Given the description of an element on the screen output the (x, y) to click on. 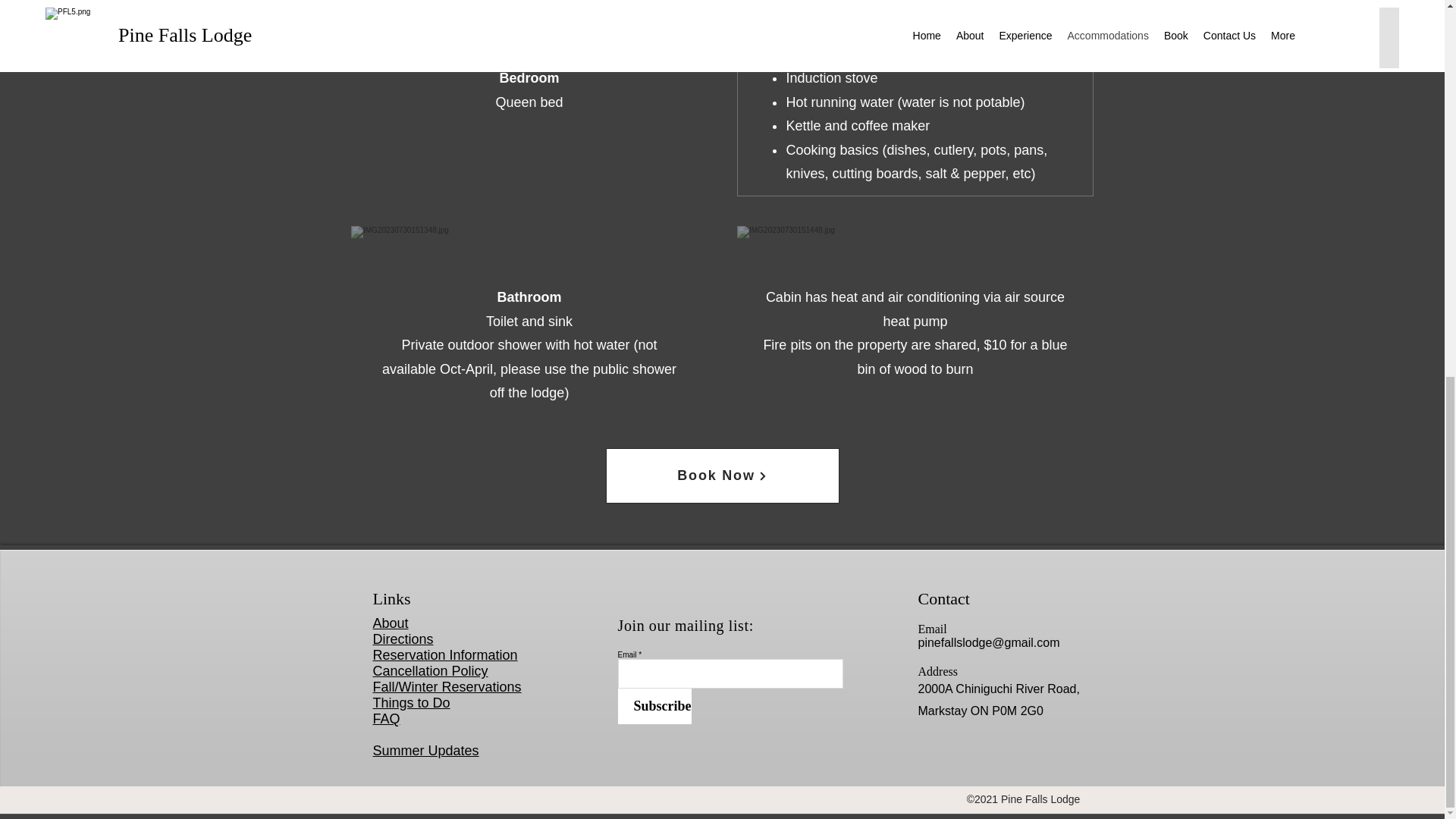
Cancellation Policy (429, 670)
Subscribe (653, 705)
FAQ (386, 718)
Reservation Information (445, 654)
About (390, 622)
Summer Updates (425, 750)
Things to Do (410, 702)
Directions (402, 639)
Book Now (721, 475)
